Given the description of an element on the screen output the (x, y) to click on. 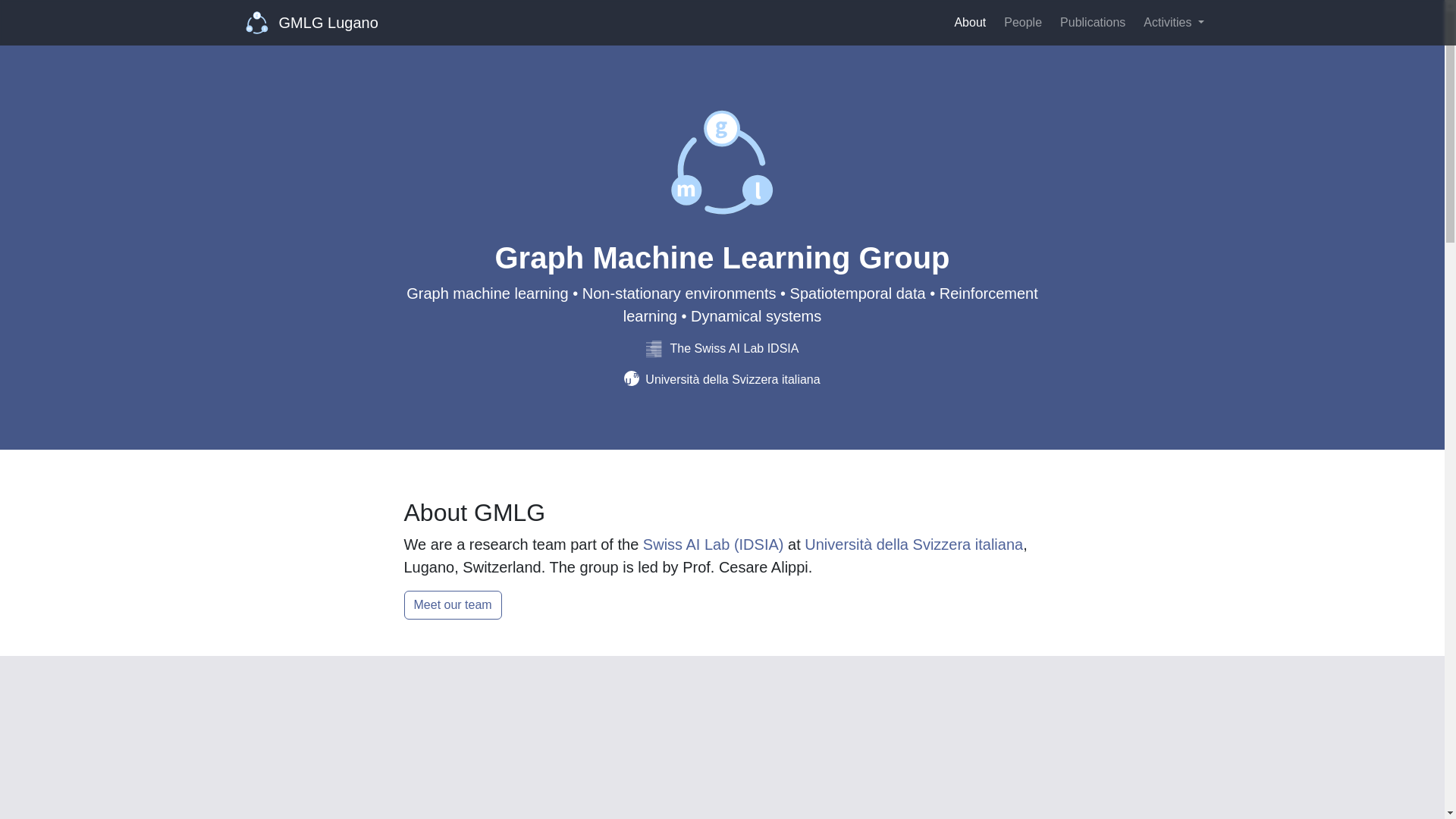
Activities (1173, 22)
People (1022, 22)
GMLG Lugano (312, 22)
About (969, 22)
Meet our team (451, 604)
The Swiss AI Lab IDSIA (722, 348)
Publications (1092, 22)
